Given the description of an element on the screen output the (x, y) to click on. 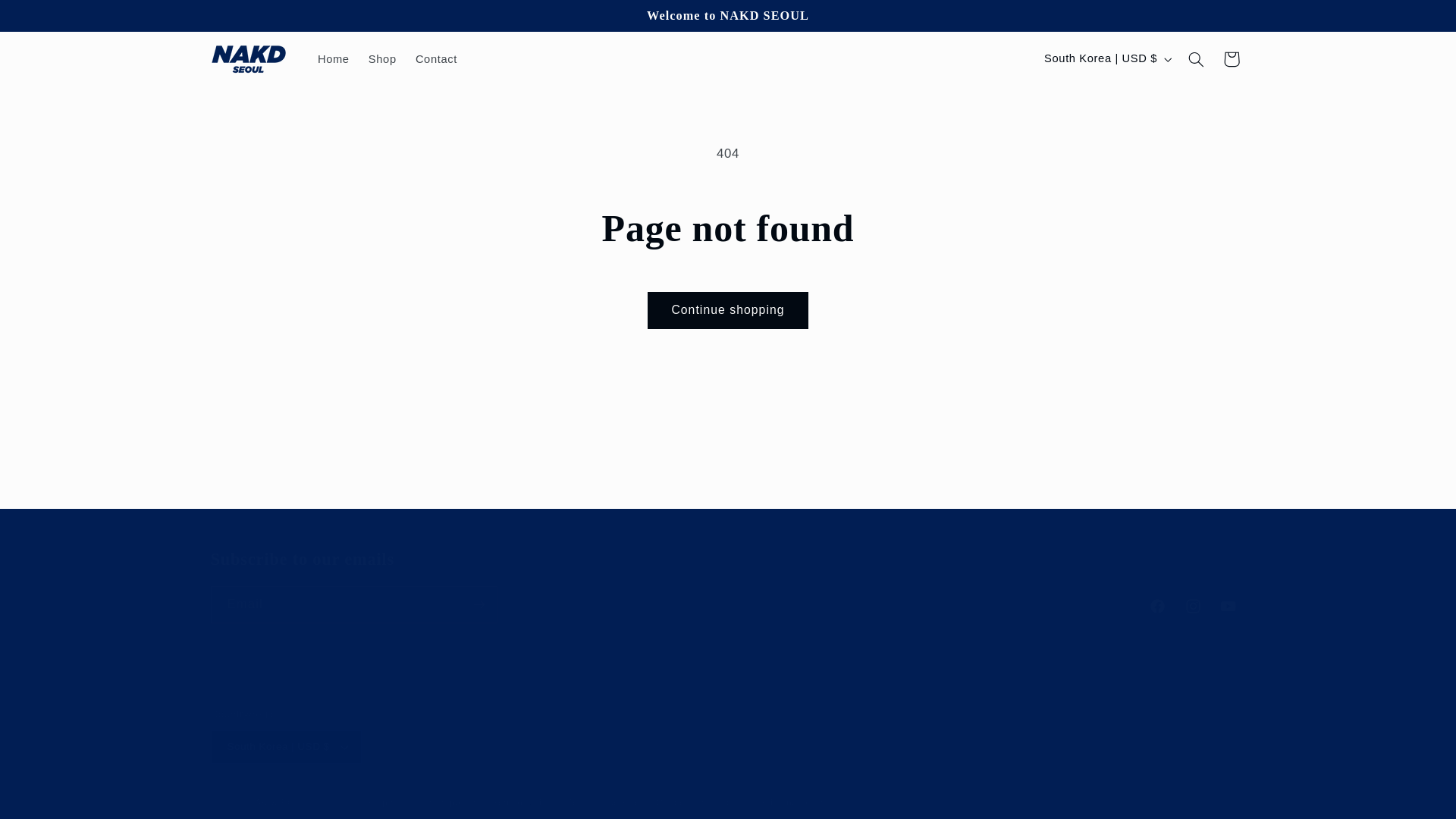
Contact information (699, 802)
Refund policy (521, 802)
Shipping policy (792, 802)
Cart (1231, 58)
NAKDSEOUL (277, 801)
Continue shopping (727, 310)
Shop (382, 59)
Skip to content (48, 18)
Terms of service (603, 802)
Home (332, 59)
